Given the description of an element on the screen output the (x, y) to click on. 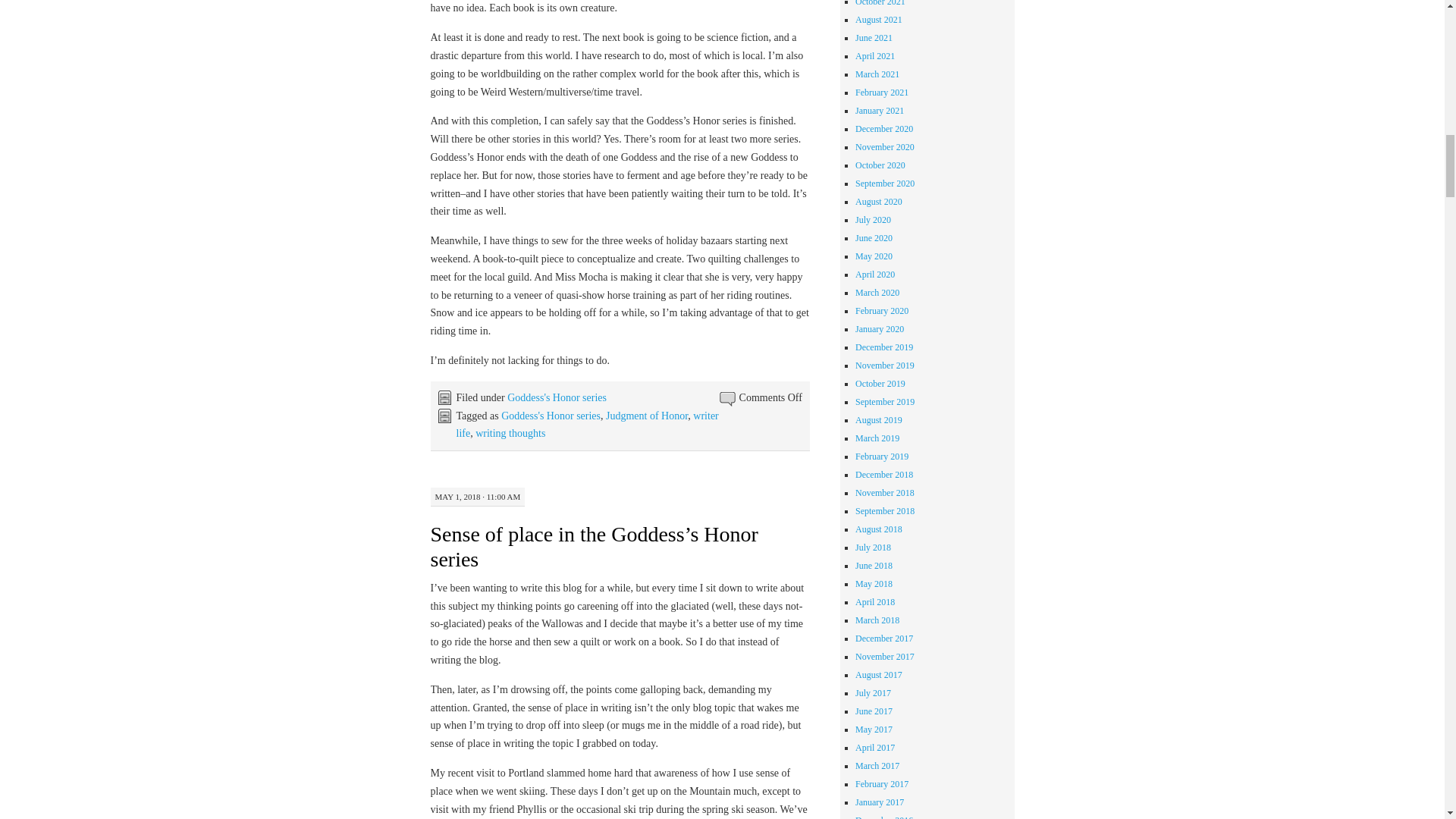
Goddess's Honor series (549, 415)
Judgment of Honor (646, 415)
writing thoughts (510, 432)
Goddess's Honor series (556, 397)
writer life (588, 424)
